Given the description of an element on the screen output the (x, y) to click on. 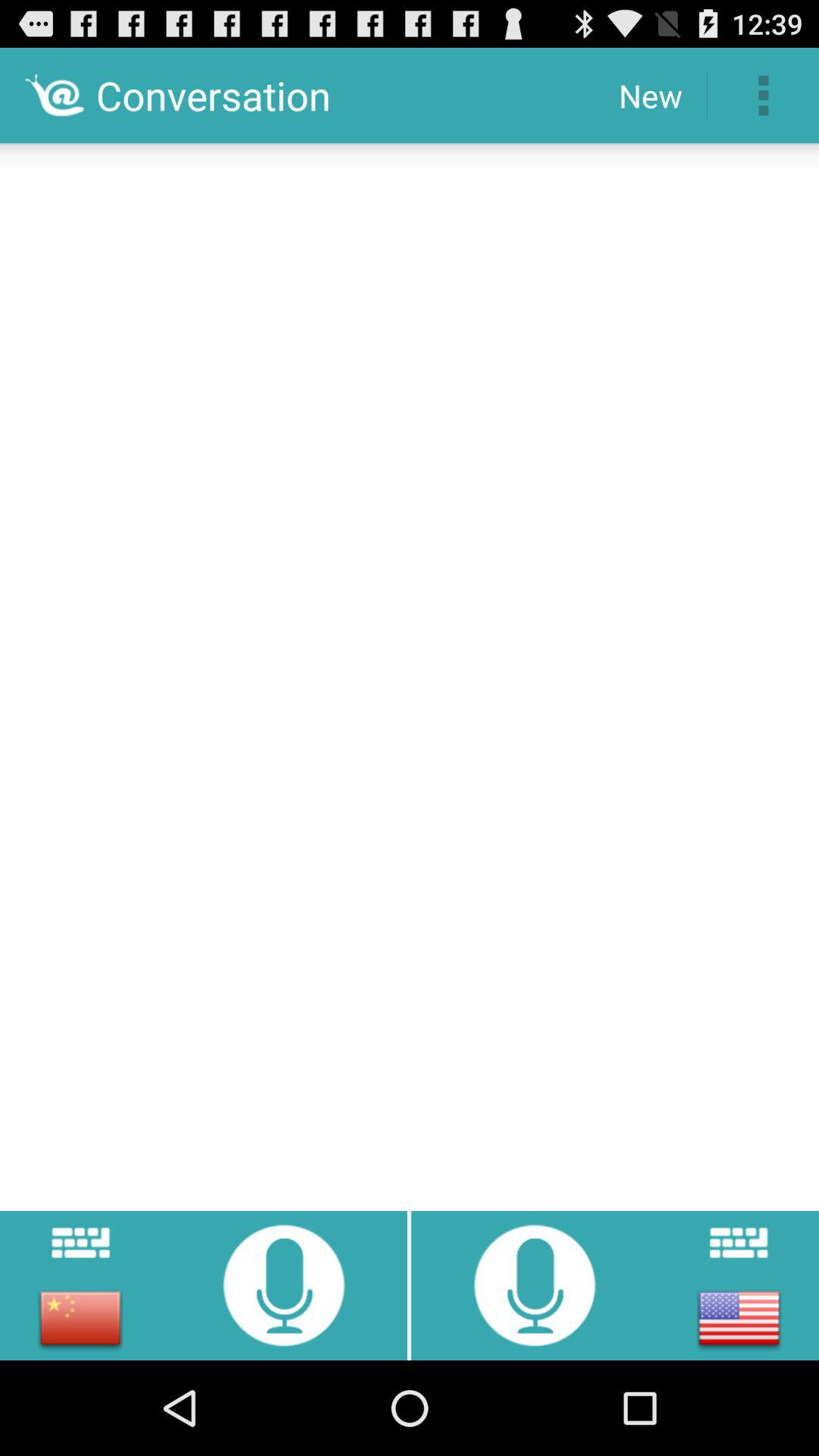
start recording audio in english (534, 1285)
